Given the description of an element on the screen output the (x, y) to click on. 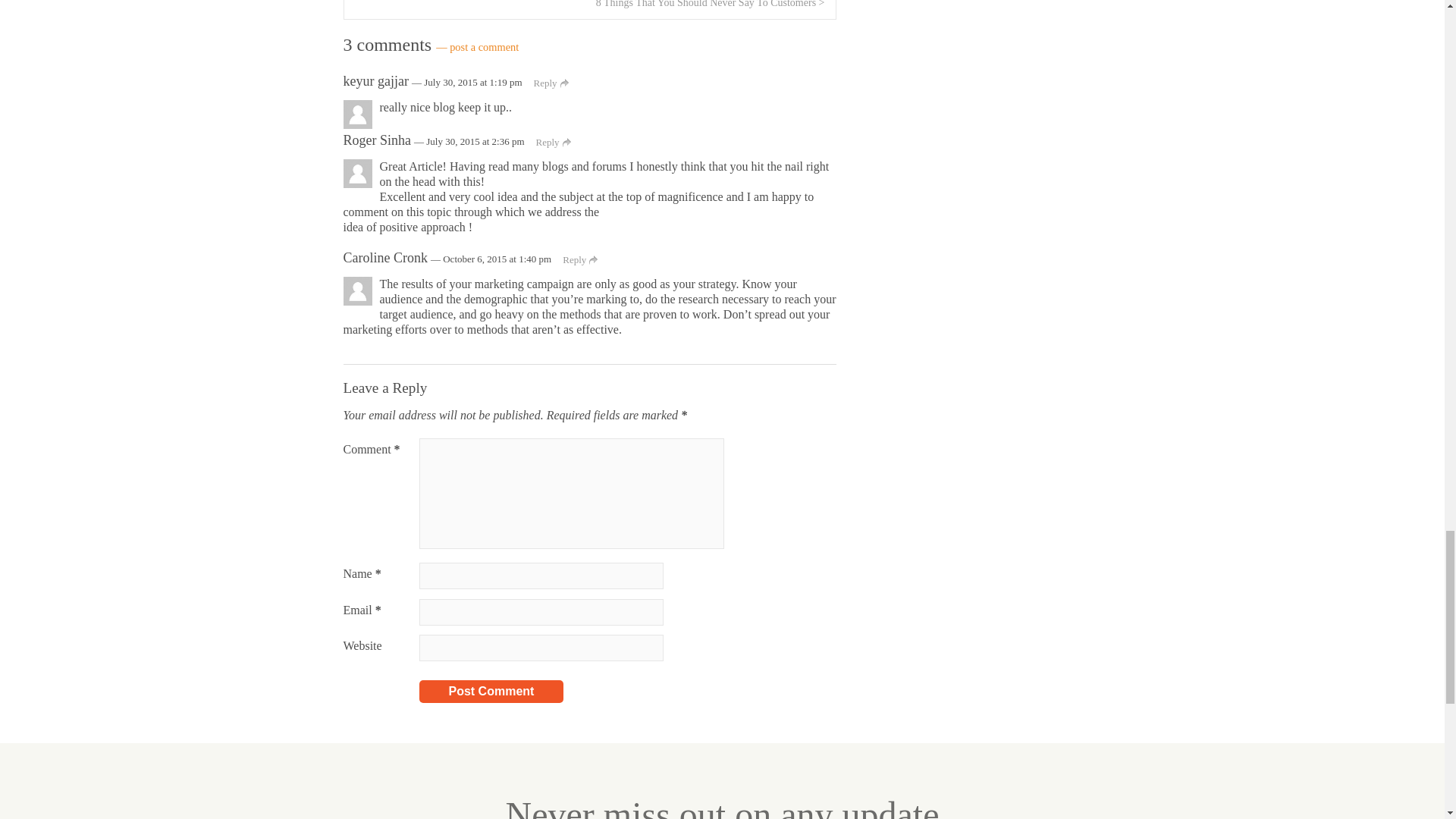
Post Comment (491, 691)
